Given the description of an element on the screen output the (x, y) to click on. 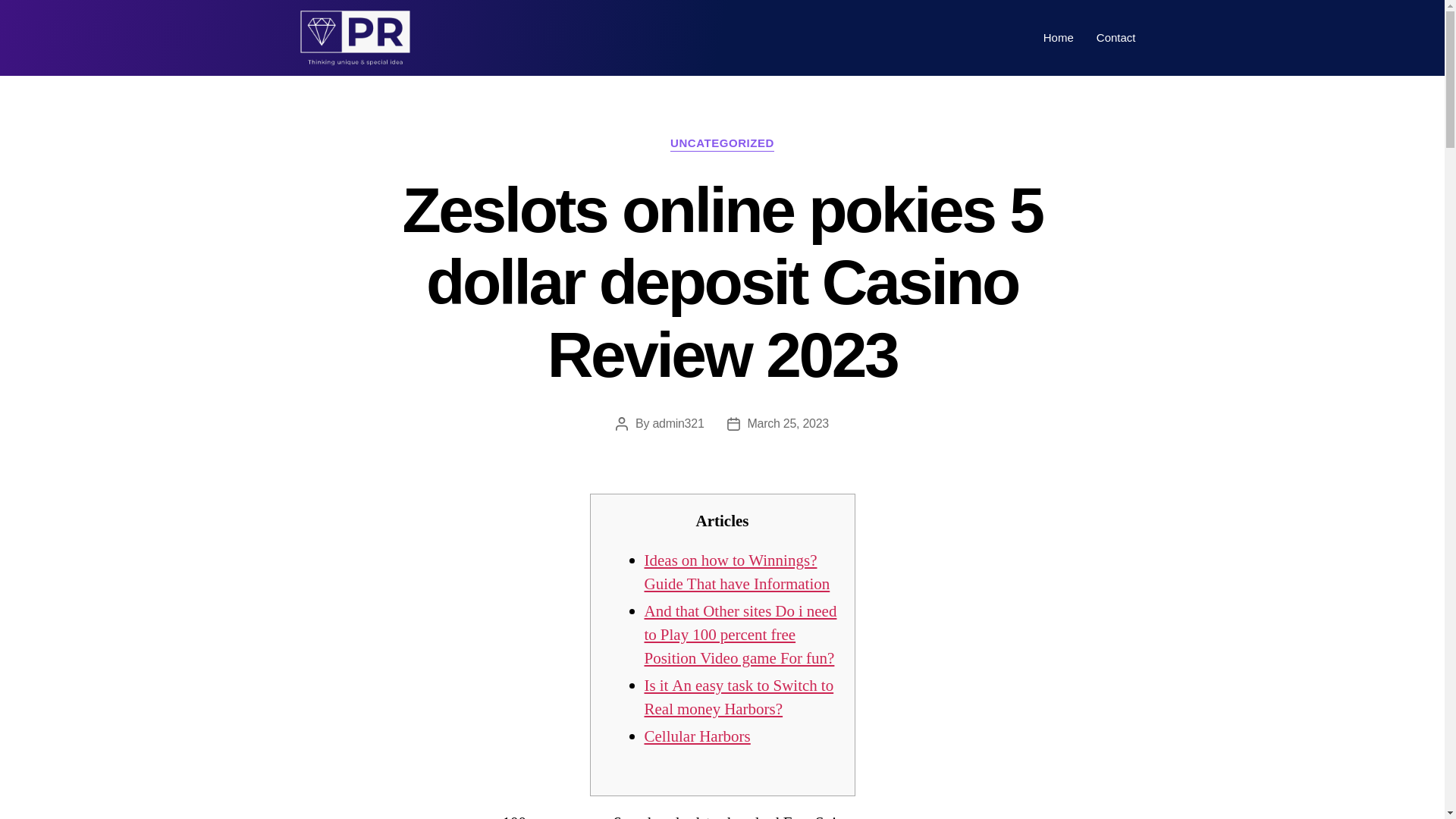
Ideas on how to Winnings? Guide That have Information (737, 572)
Is it An easy task to Switch to Real money Harbors? (739, 697)
admin321 (677, 422)
Cellular Harbors (698, 736)
UNCATEGORIZED (721, 143)
Contact (1115, 37)
March 25, 2023 (788, 422)
